Given the description of an element on the screen output the (x, y) to click on. 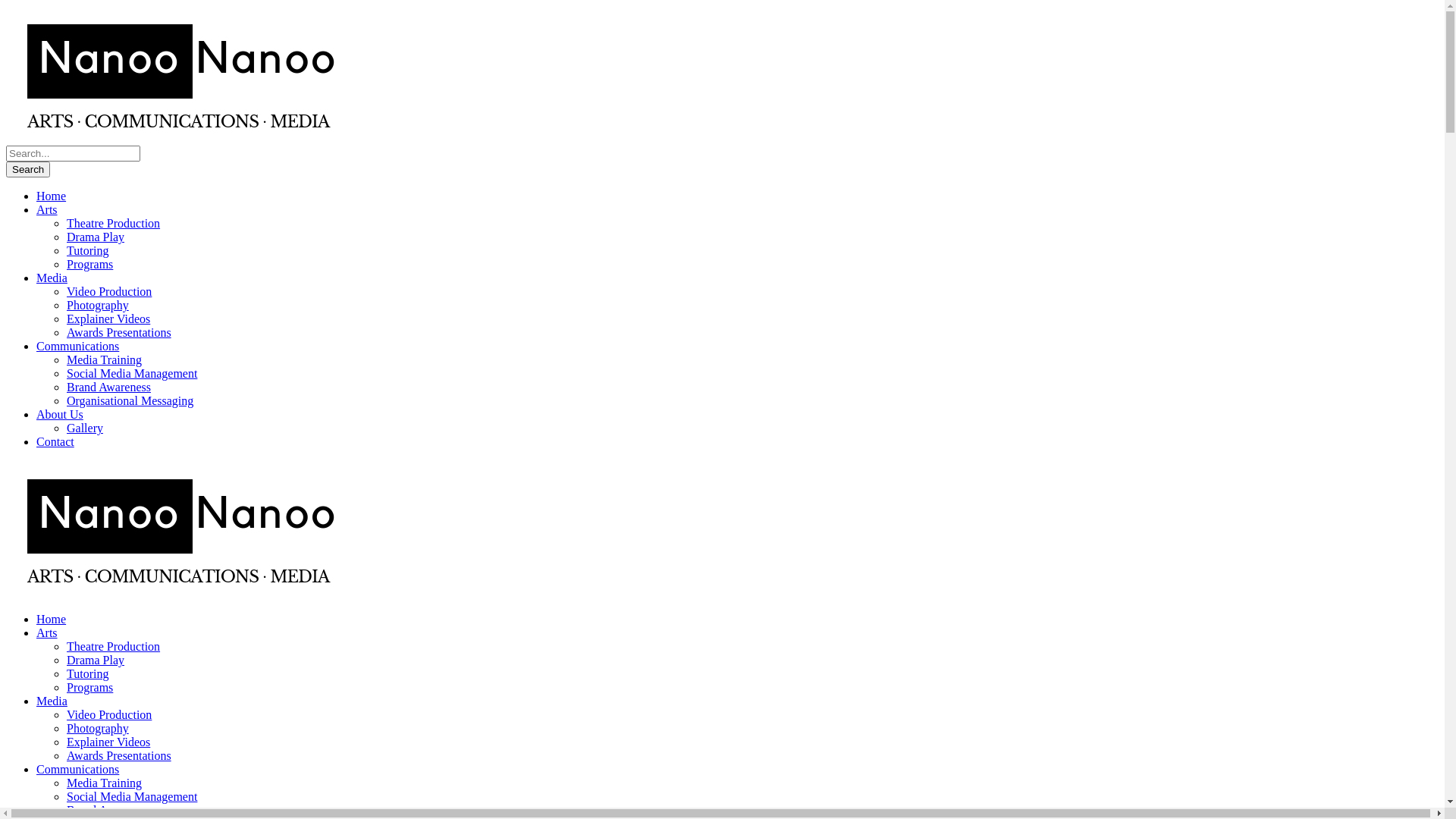
Tutoring Element type: text (87, 673)
Organisational Messaging Element type: text (129, 400)
Photography Element type: text (97, 304)
Video Production Element type: text (108, 291)
Explainer Videos Element type: text (108, 318)
Drama Play Element type: text (95, 236)
Arts Element type: text (46, 209)
Social Media Management Element type: text (131, 373)
Drama Play Element type: text (95, 659)
Social Media Management Element type: text (131, 796)
Arts Element type: text (46, 632)
Search Element type: text (28, 169)
Tutoring Element type: text (87, 250)
Contact Element type: text (55, 441)
Brand Awareness Element type: text (108, 386)
Media Training Element type: text (103, 359)
Media Training Element type: text (103, 782)
Programs Element type: text (89, 263)
Awards Presentations Element type: text (118, 332)
Communications Element type: text (77, 768)
Theatre Production Element type: text (113, 646)
Programs Element type: text (89, 686)
Home Element type: text (50, 618)
Awards Presentations Element type: text (118, 755)
Media Element type: text (51, 277)
Media Element type: text (51, 700)
Explainer Videos Element type: text (108, 741)
Brand Awareness Element type: text (108, 809)
Communications Element type: text (77, 345)
Theatre Production Element type: text (113, 222)
About Us Element type: text (59, 413)
Gallery Element type: text (84, 427)
Home Element type: text (50, 195)
Video Production Element type: text (108, 714)
Photography Element type: text (97, 727)
